Given the description of an element on the screen output the (x, y) to click on. 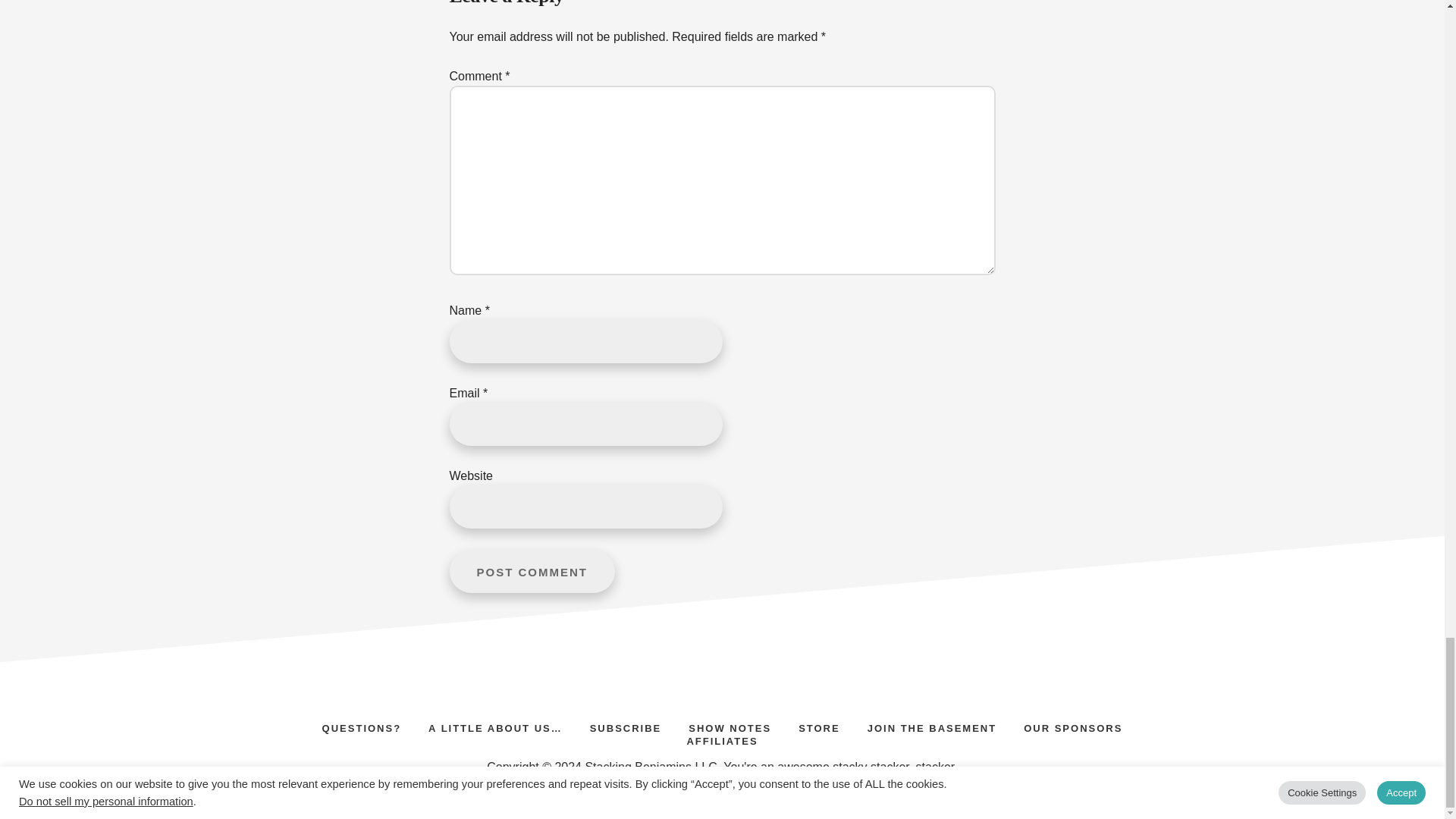
QUESTIONS? (361, 726)
Post Comment (531, 570)
AFFILIATES (721, 739)
Post Comment (531, 570)
SUBSCRIBE (625, 726)
OUR SPONSORS (1072, 726)
SHOW NOTES (729, 726)
STORE (818, 726)
JOIN THE BASEMENT (931, 726)
